Given the description of an element on the screen output the (x, y) to click on. 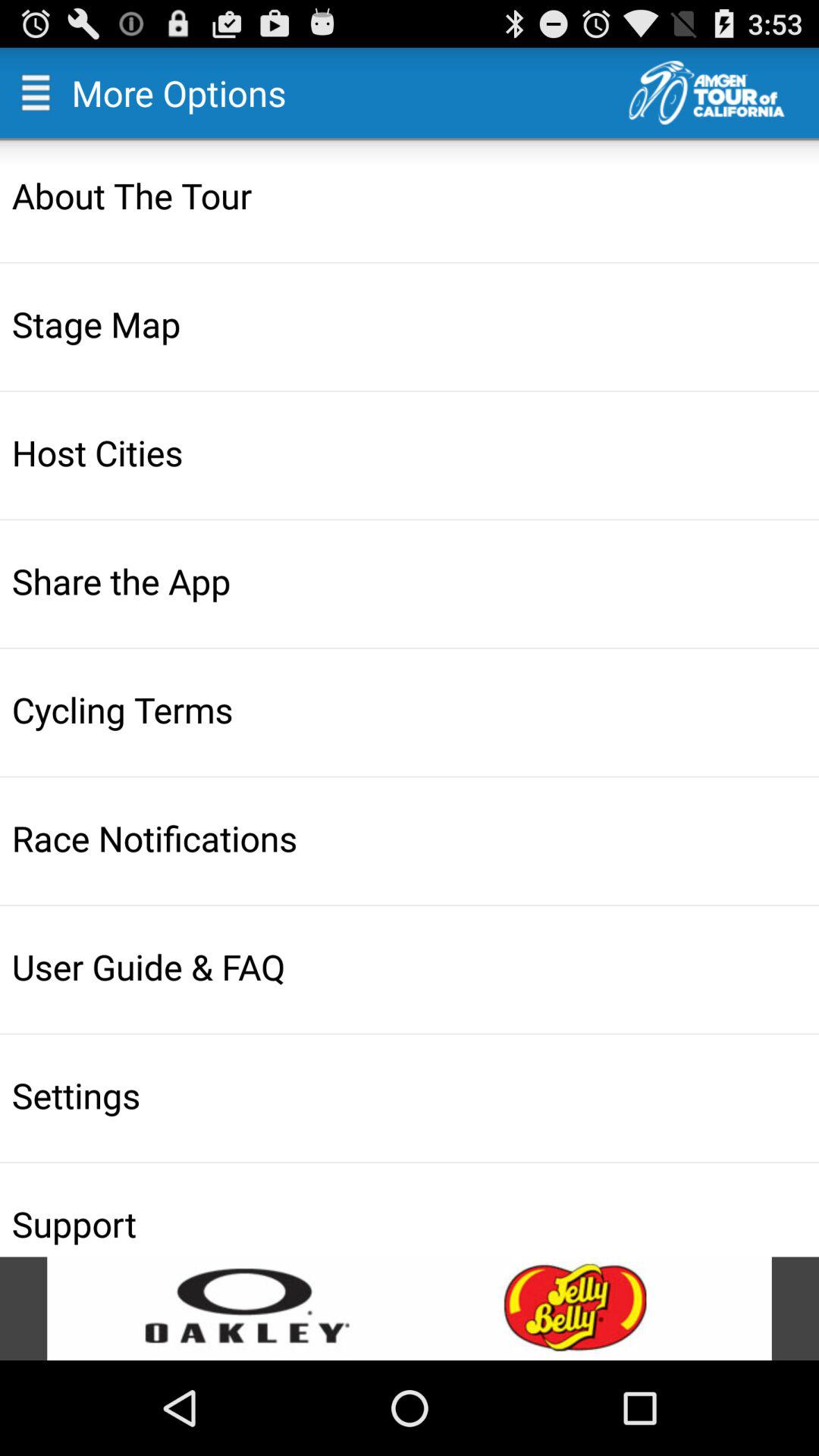
scroll until stage map (411, 323)
